Given the description of an element on the screen output the (x, y) to click on. 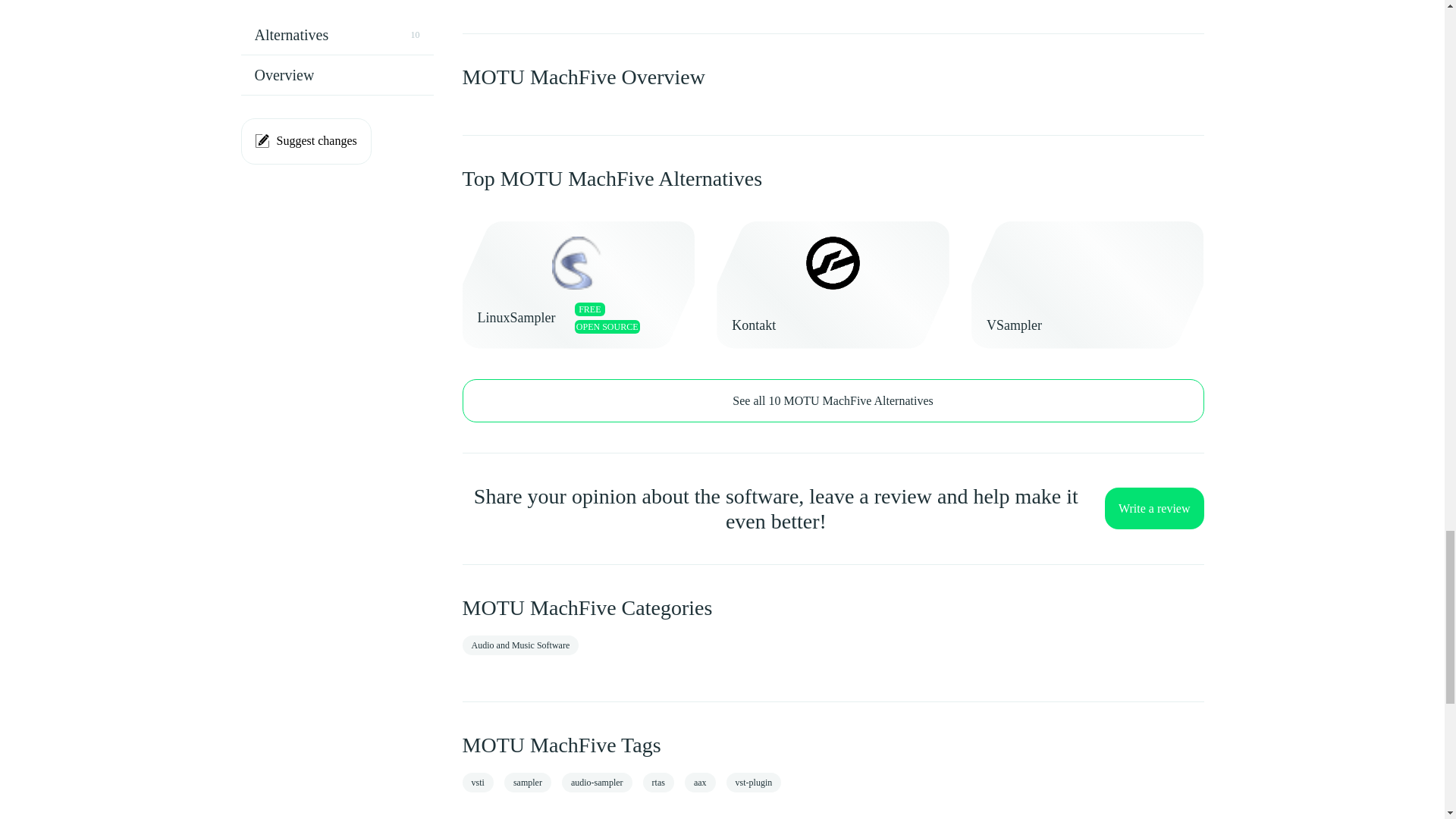
Go to Audio and Music Software (521, 645)
